Given the description of an element on the screen output the (x, y) to click on. 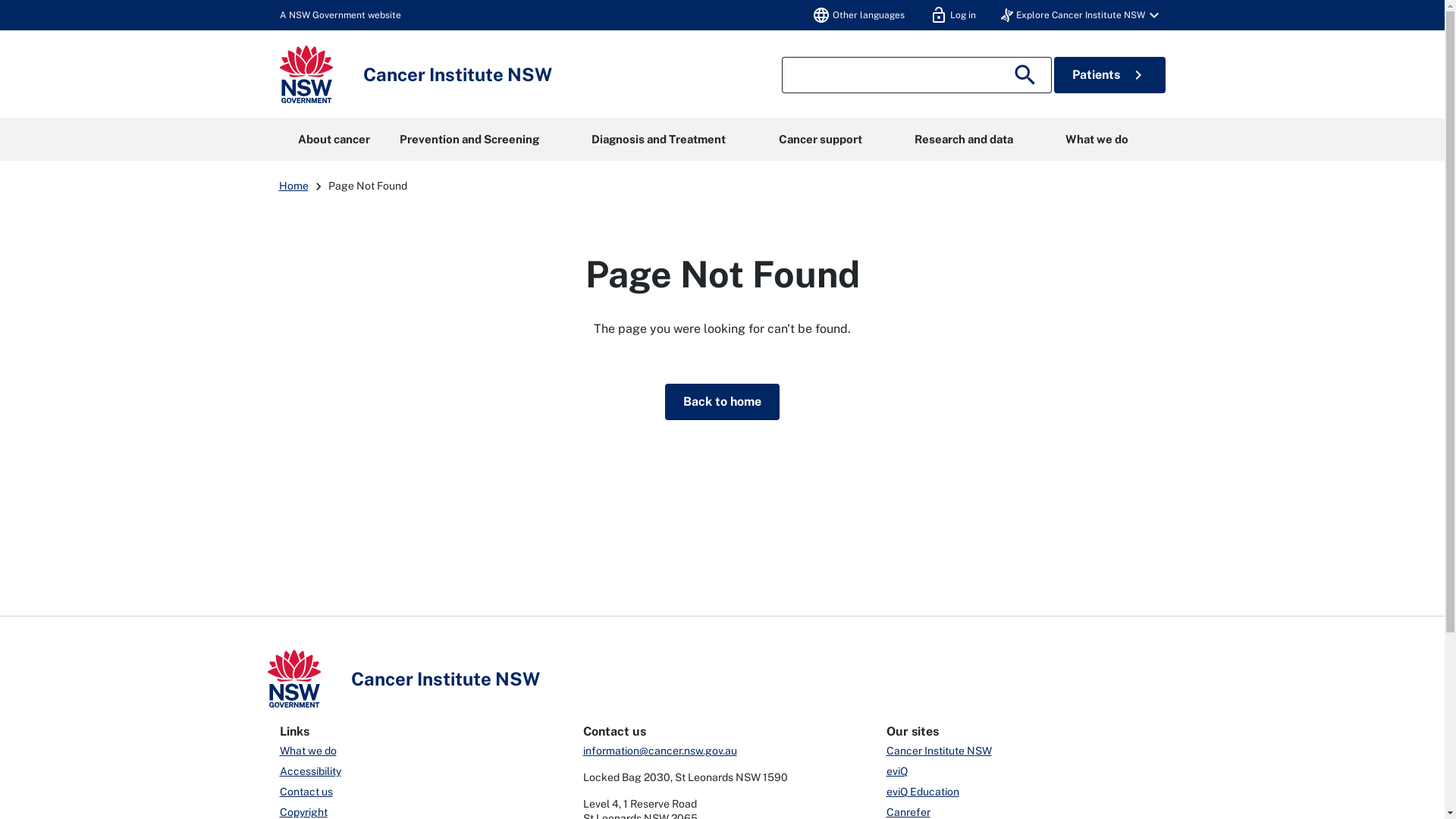
NSW Government Element type: text (293, 678)
eviQ Element type: text (895, 771)
language
Other languages Element type: text (857, 15)
What we do Element type: text (1096, 139)
eviQ Education Element type: text (921, 791)
NSW Government Element type: text (305, 74)
lock_open
Log in Element type: text (952, 15)
search
Search Element type: text (1028, 74)
Prevention and Screening Element type: text (468, 139)
Home Element type: text (293, 185)
Cancer Institute NSW Element type: text (938, 750)
What we do Element type: text (307, 750)
Accessibility Element type: text (309, 771)
Research and data Element type: text (963, 139)
Cancer support Element type: text (820, 139)
information@cancer.nsw.gov.au Element type: text (659, 750)
Diagnosis and Treatment Element type: text (658, 139)
Contact us Element type: text (305, 791)
Explore Cancer Institute NSW
expand_more Element type: text (1082, 15)
About cancer Element type: text (333, 139)
Canrefer Element type: text (907, 812)
Patients chevron_right Element type: text (1109, 74)
Copyright Element type: text (302, 812)
Back to home Element type: text (722, 401)
